Given the description of an element on the screen output the (x, y) to click on. 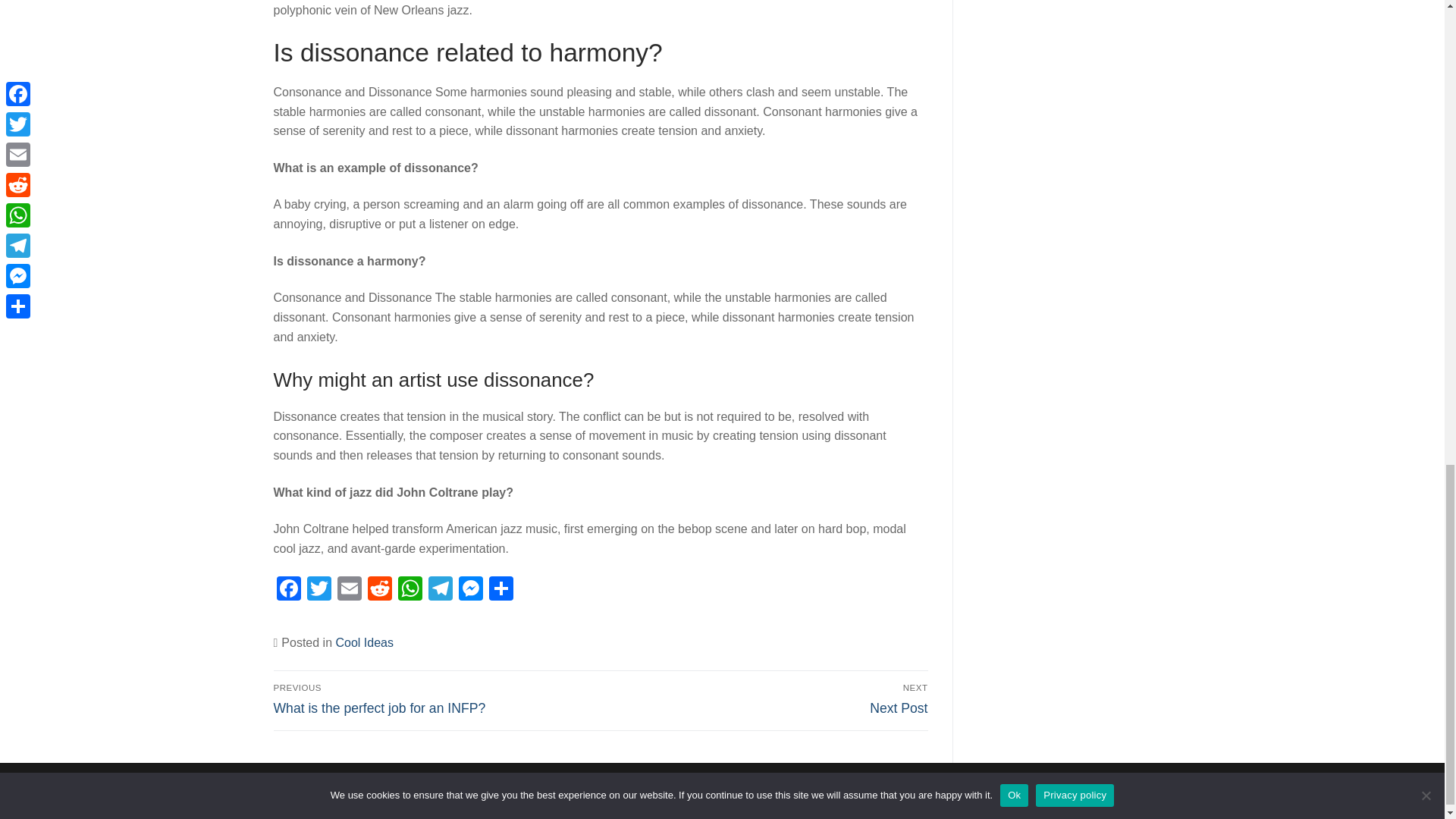
Messenger (469, 590)
Cool Ideas (363, 642)
Email (348, 590)
WhatsApp (409, 590)
Reddit (379, 590)
WhatsApp (433, 698)
Telegram (409, 590)
Twitter (439, 590)
Email (317, 590)
Share (348, 590)
Twitter (499, 590)
Facebook (317, 590)
Facebook (287, 590)
